Given the description of an element on the screen output the (x, y) to click on. 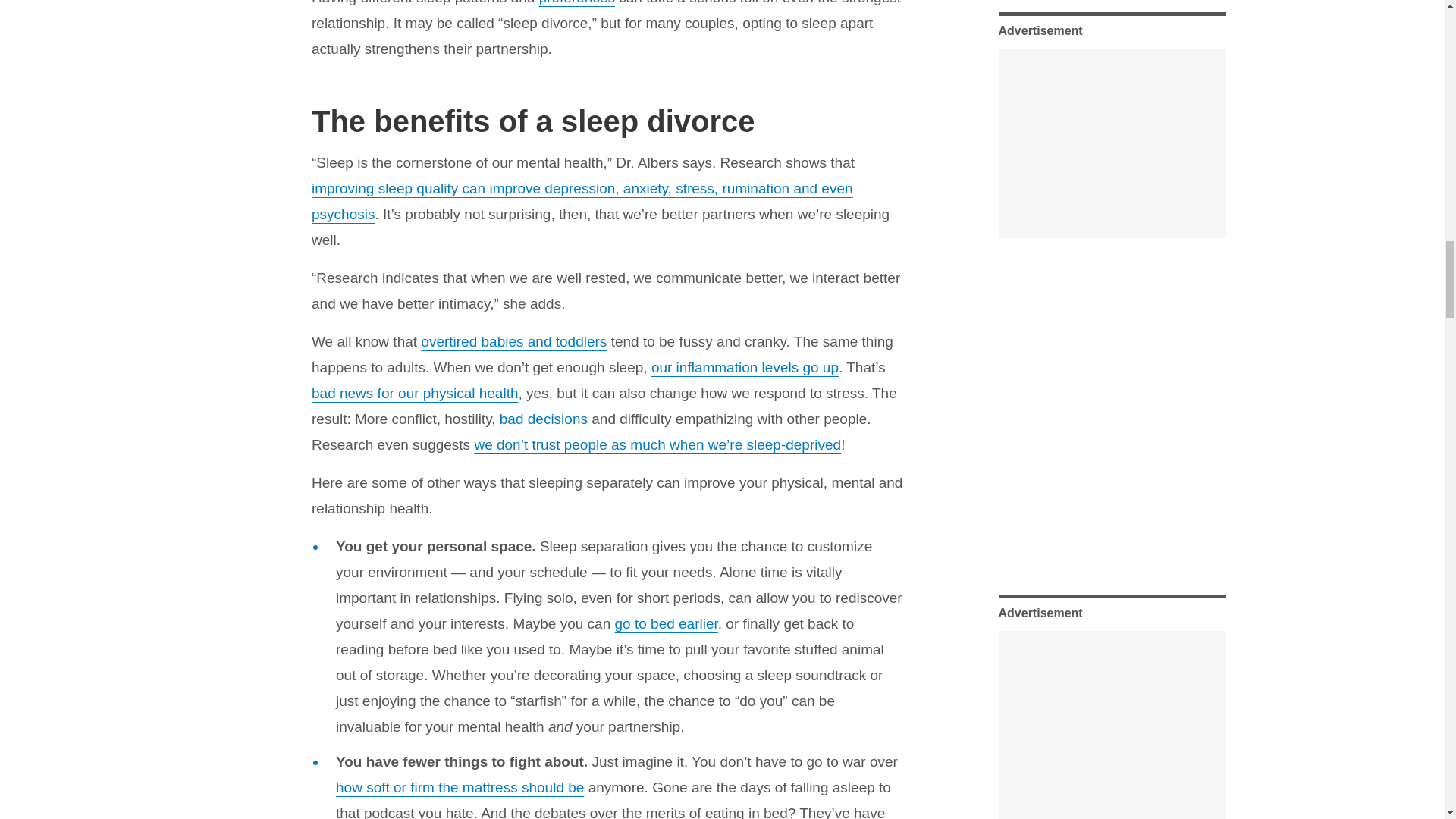
bad news for our physical health (414, 392)
overtired babies and toddlers (513, 341)
preferences (576, 2)
our inflammation levels go up (744, 367)
bad decisions (543, 418)
